Given the description of an element on the screen output the (x, y) to click on. 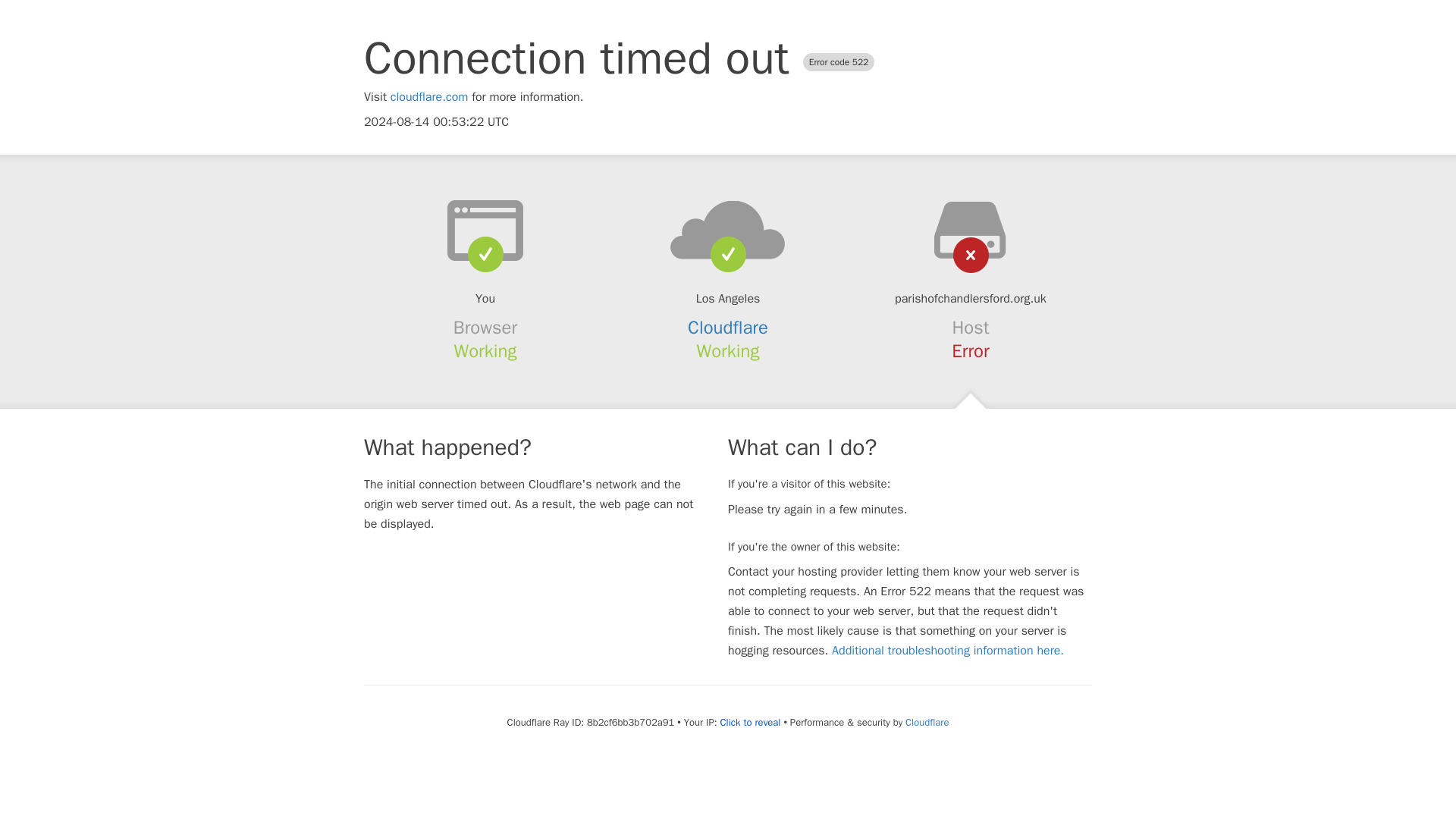
Additional troubleshooting information here. (947, 650)
Cloudflare (727, 327)
Click to reveal (750, 722)
Cloudflare (927, 721)
cloudflare.com (429, 96)
